Given the description of an element on the screen output the (x, y) to click on. 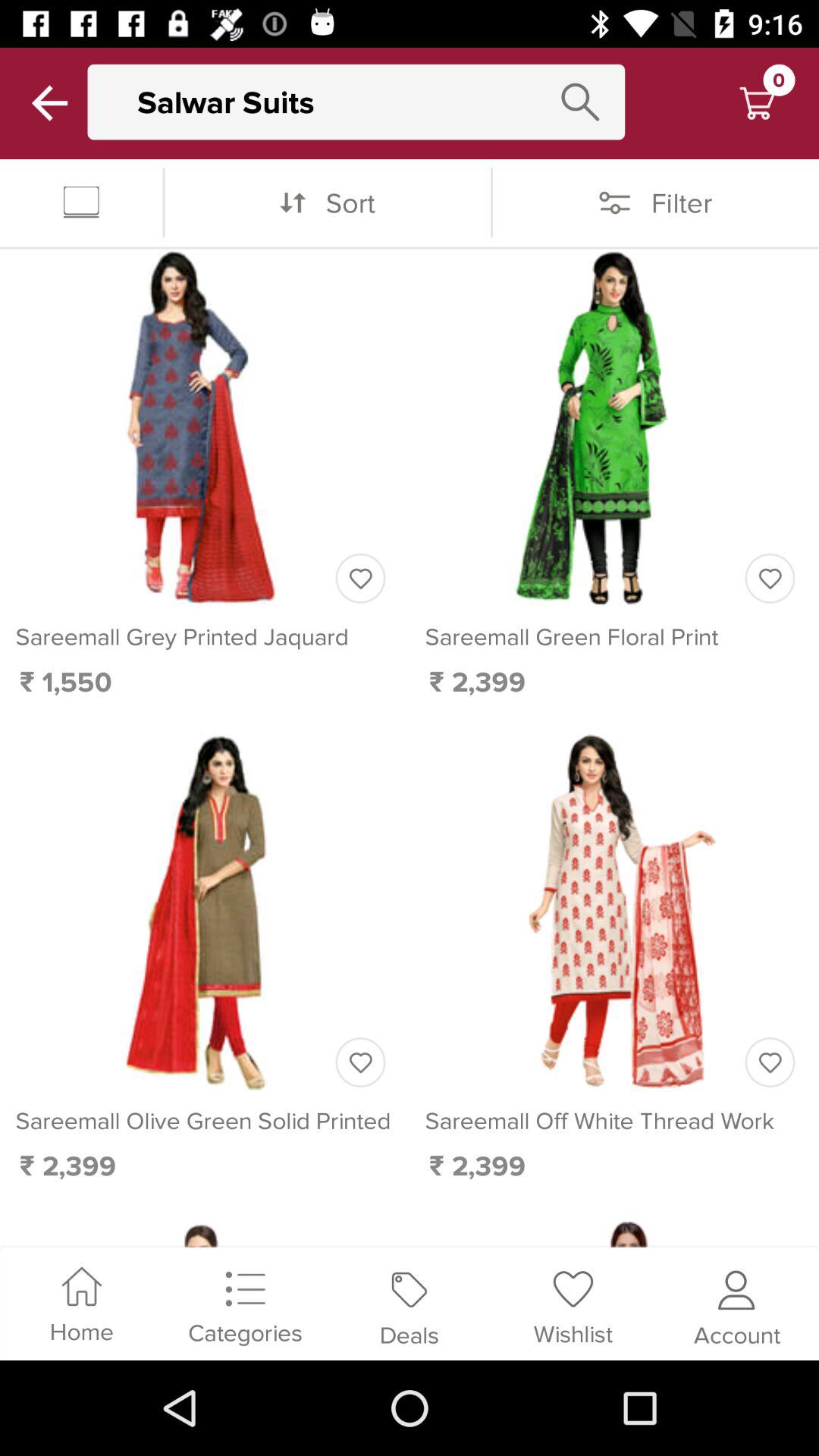
love this item (360, 1062)
